Given the description of an element on the screen output the (x, y) to click on. 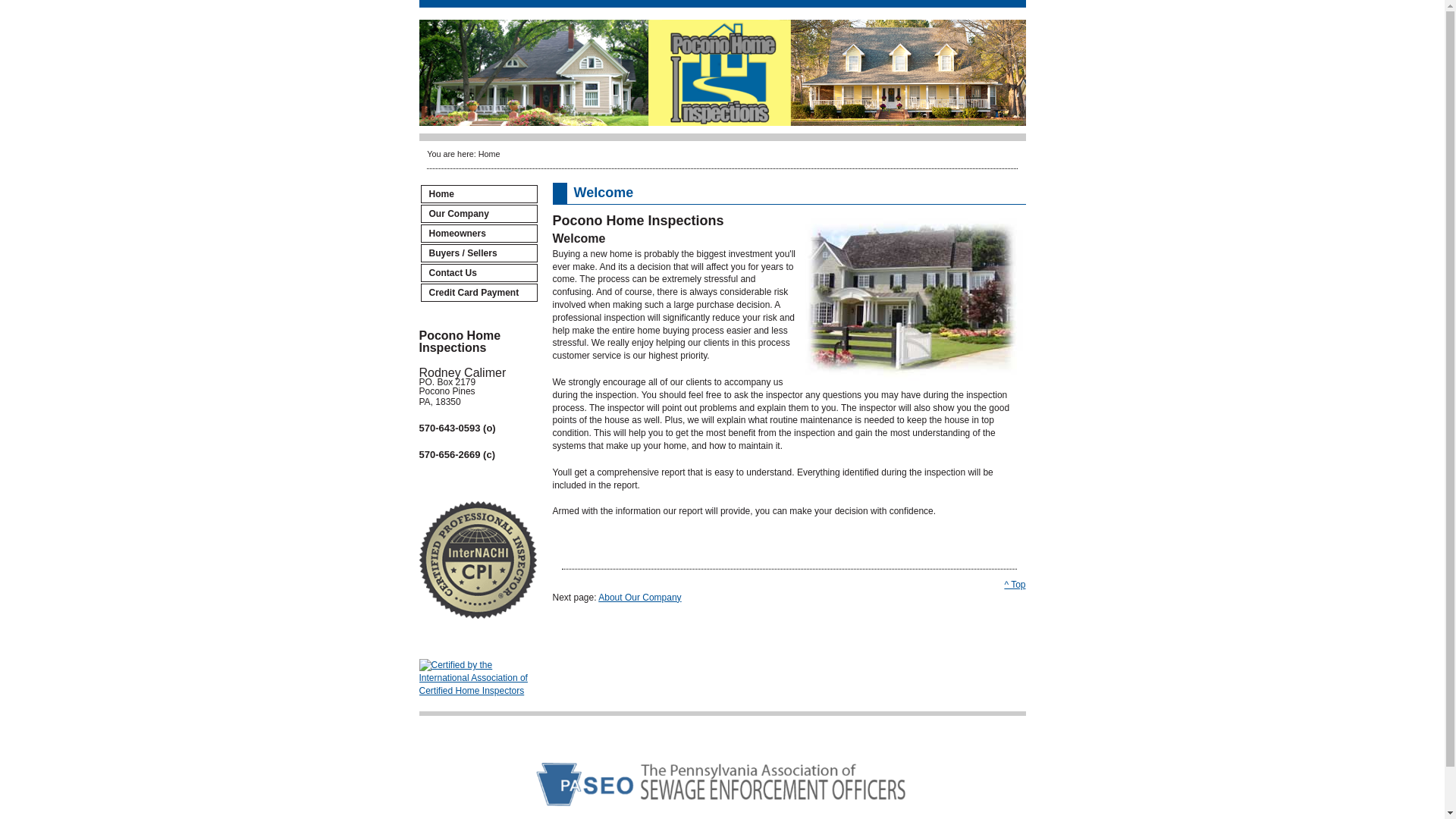
Home (478, 194)
About Our Company (639, 597)
Homeowners (478, 233)
Our Company (478, 213)
